Given the description of an element on the screen output the (x, y) to click on. 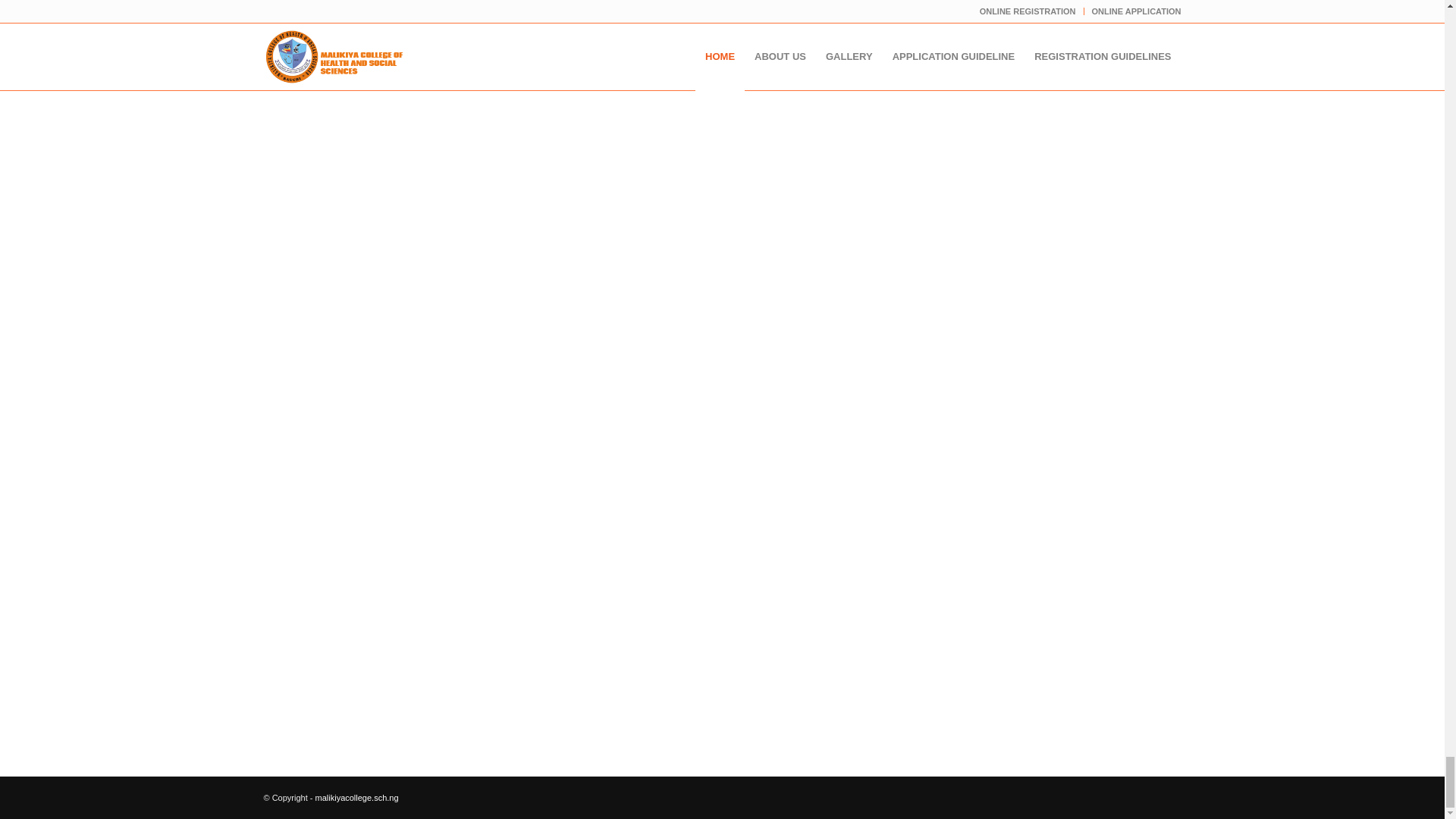
malikiyacollege.sch.ng (356, 797)
